Given the description of an element on the screen output the (x, y) to click on. 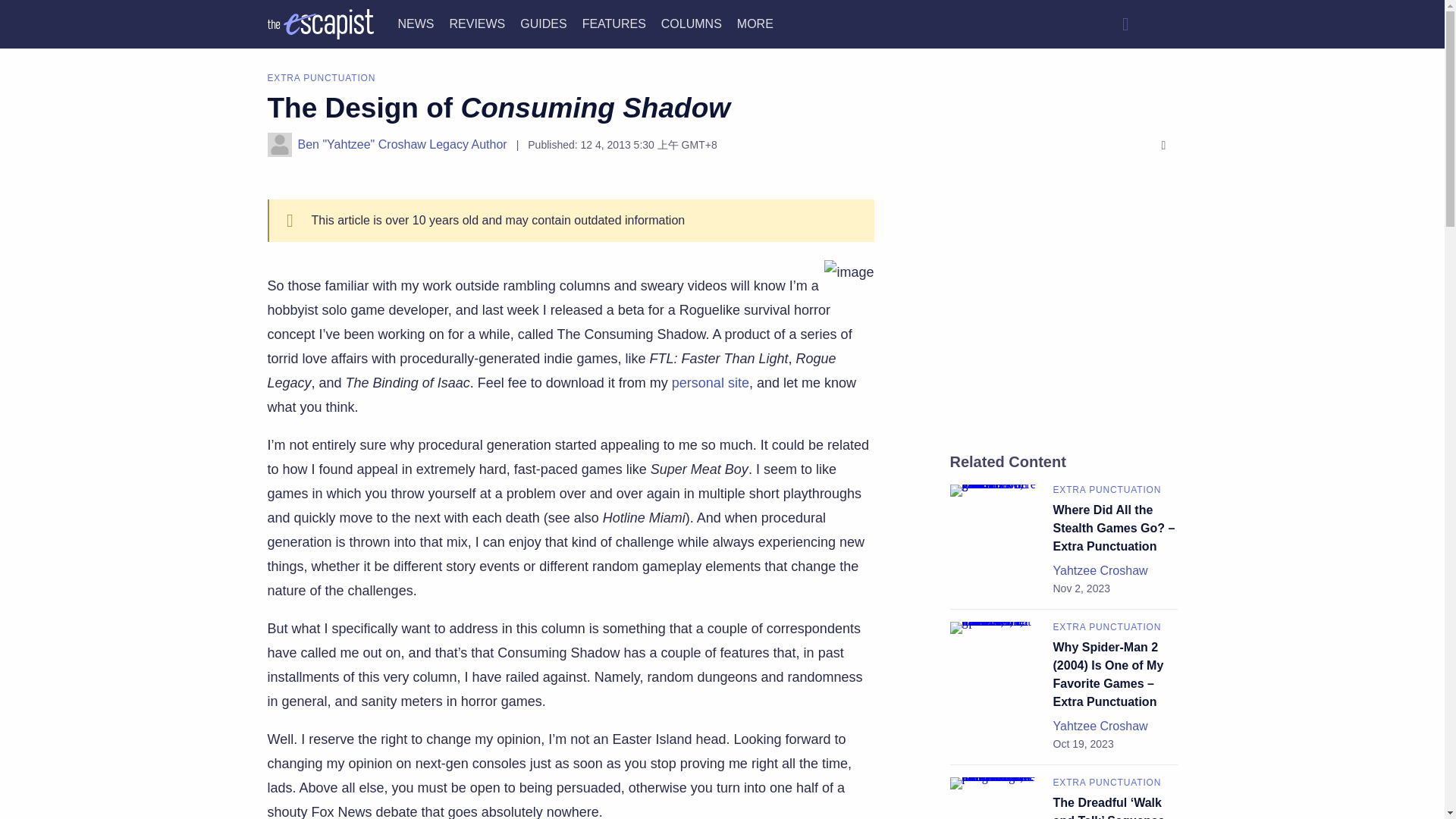
COLUMNS (691, 23)
FEATURES (614, 23)
REVIEWS (476, 23)
GUIDES (542, 23)
Dark Mode (1161, 24)
NEWS (415, 23)
Search (1124, 24)
